Given the description of an element on the screen output the (x, y) to click on. 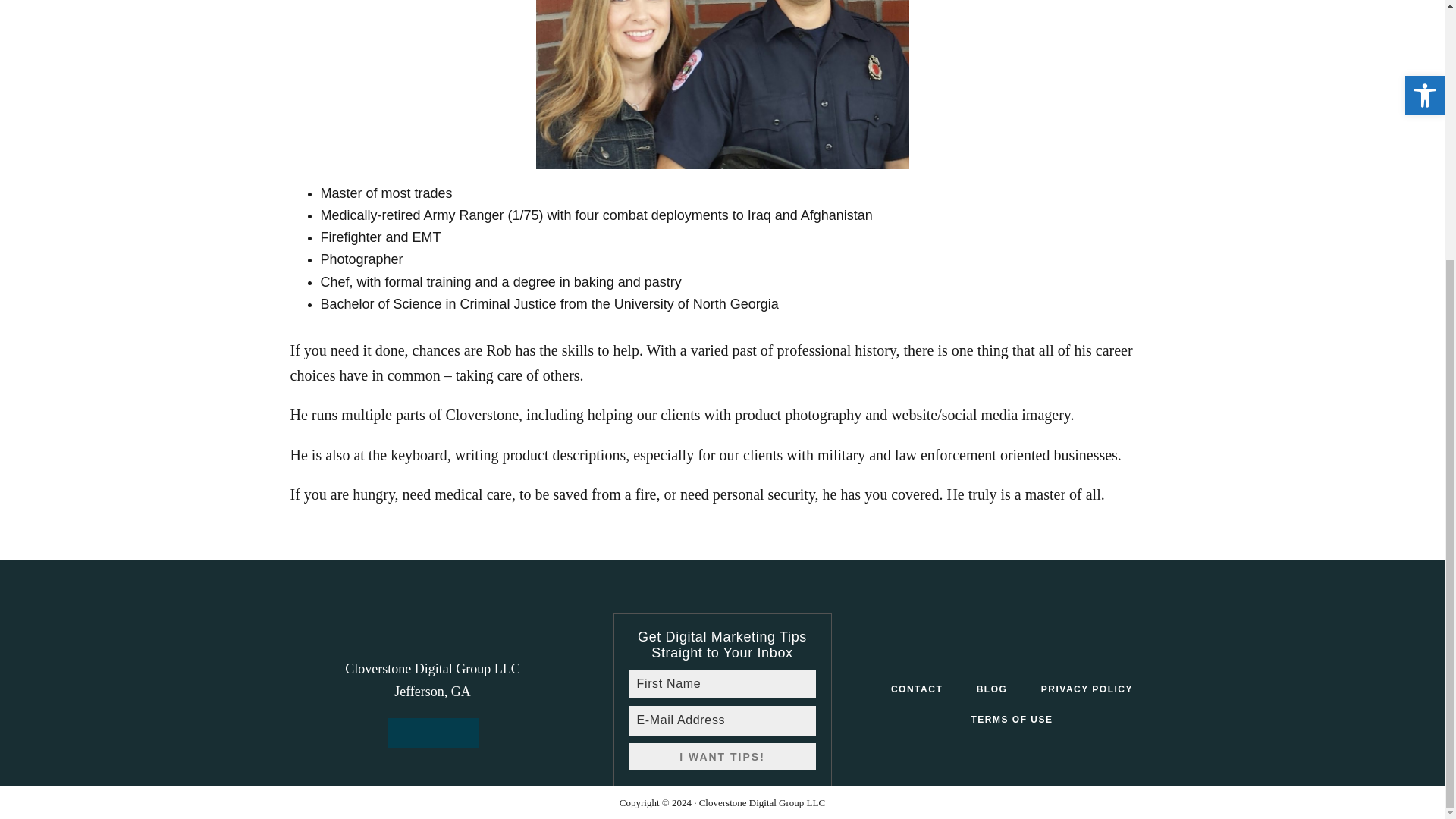
PRIVACY POLICY (1087, 688)
TERMS OF USE (1011, 719)
CONTACT (917, 688)
BLOG (991, 688)
I WANT TIPS! (721, 756)
I WANT TIPS! (721, 756)
